Given the description of an element on the screen output the (x, y) to click on. 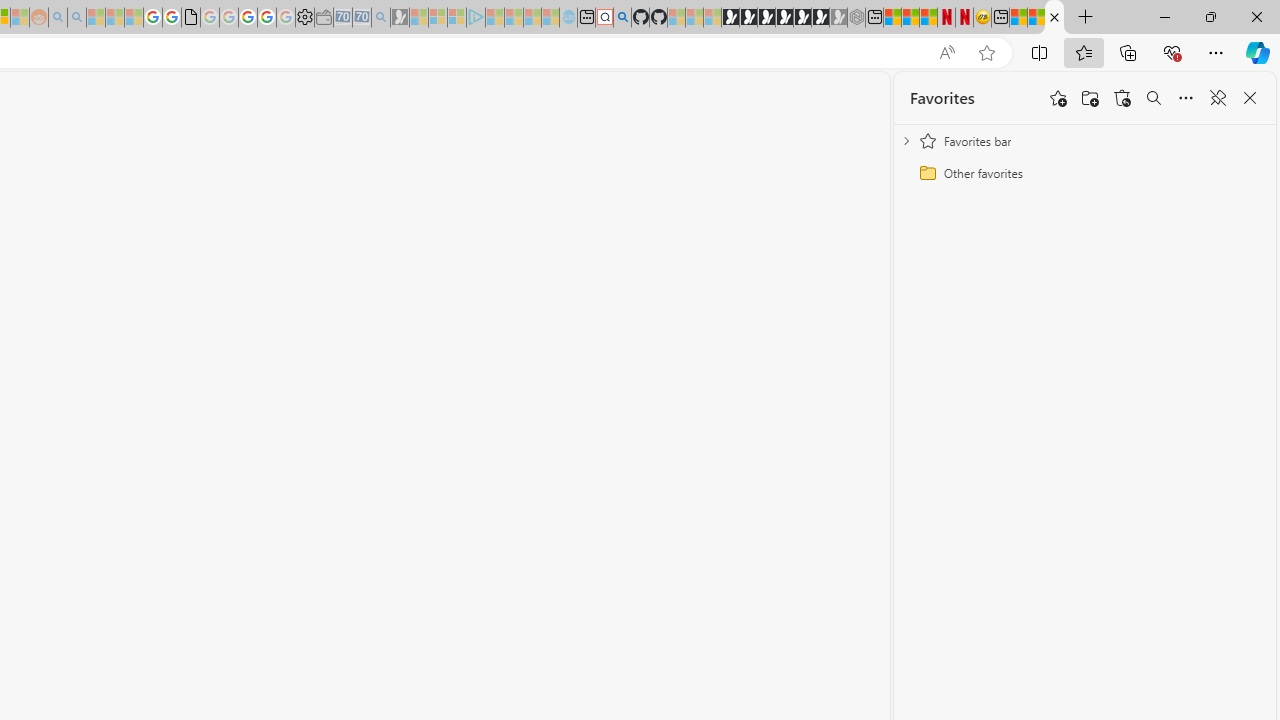
github - Search (622, 17)
Microsoft account | Privacy - Sleeping (456, 17)
Bing Real Estate - Home sales and rental listings - Sleeping (381, 17)
Home | Sky Blue Bikes - Sky Blue Bikes - Sleeping (568, 17)
Utah sues federal government - Search - Sleeping (76, 17)
